Given the description of an element on the screen output the (x, y) to click on. 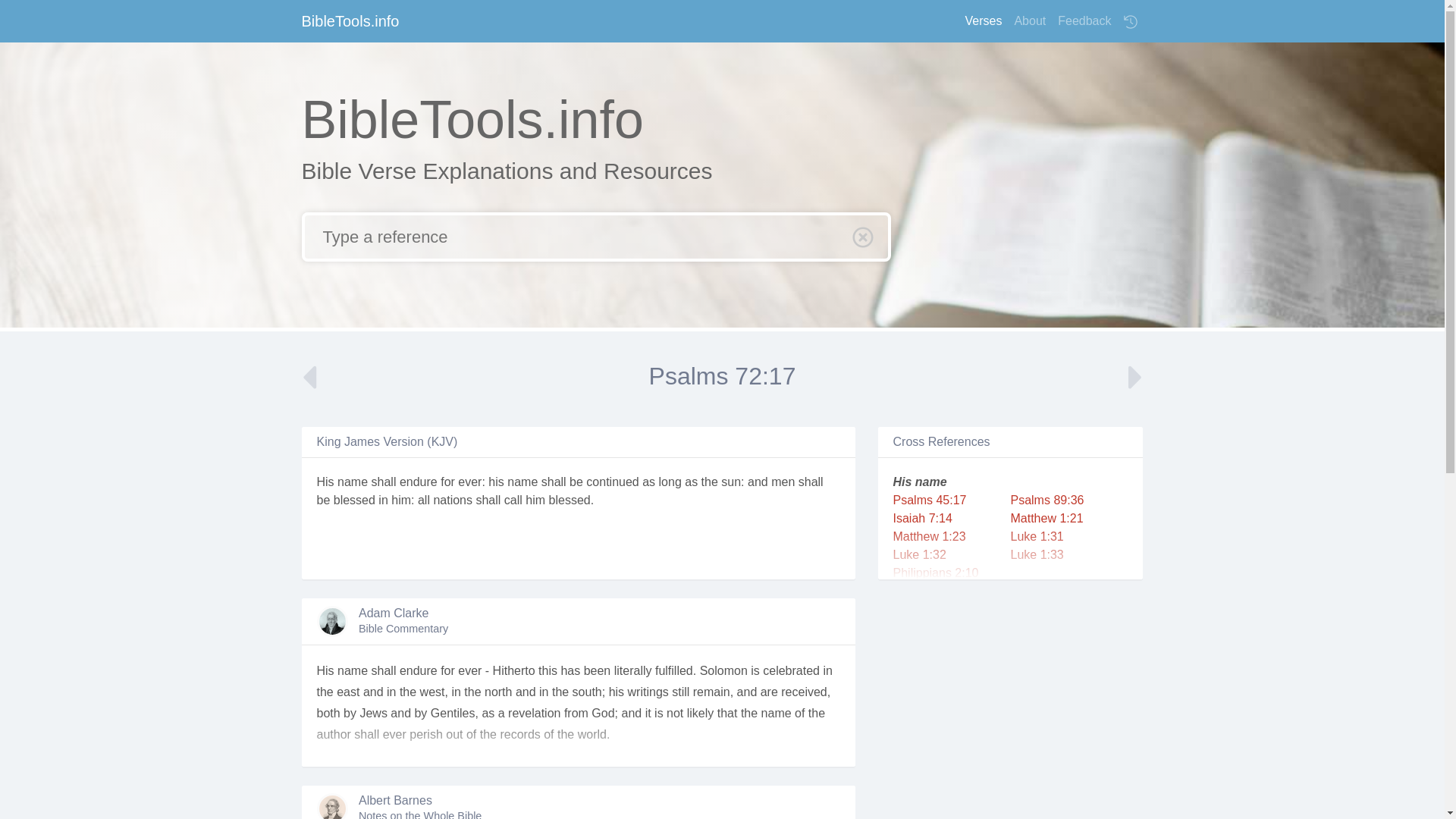
Feedback (1083, 20)
Verses (982, 20)
continued (612, 481)
About (1029, 20)
men (782, 481)
shall (383, 481)
ever: (471, 481)
shall (553, 481)
BibleTools.info (349, 20)
be (323, 499)
